Given the description of an element on the screen output the (x, y) to click on. 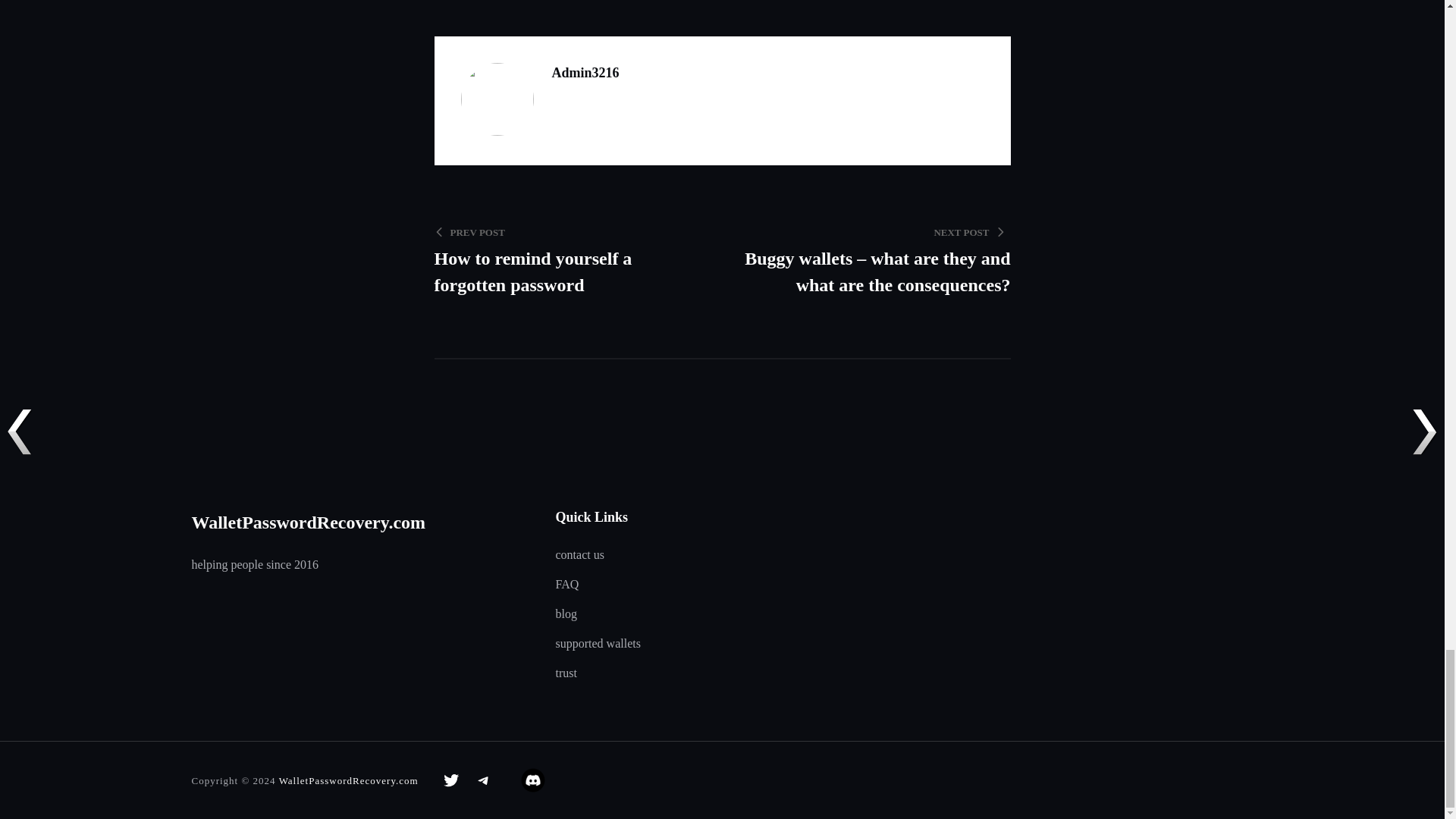
Twitter (450, 779)
WalletPasswordRecovery.com (307, 522)
supported wallets (597, 644)
WalletPasswordRecovery.com (349, 780)
Telegram (569, 259)
contact us (482, 779)
